Given the description of an element on the screen output the (x, y) to click on. 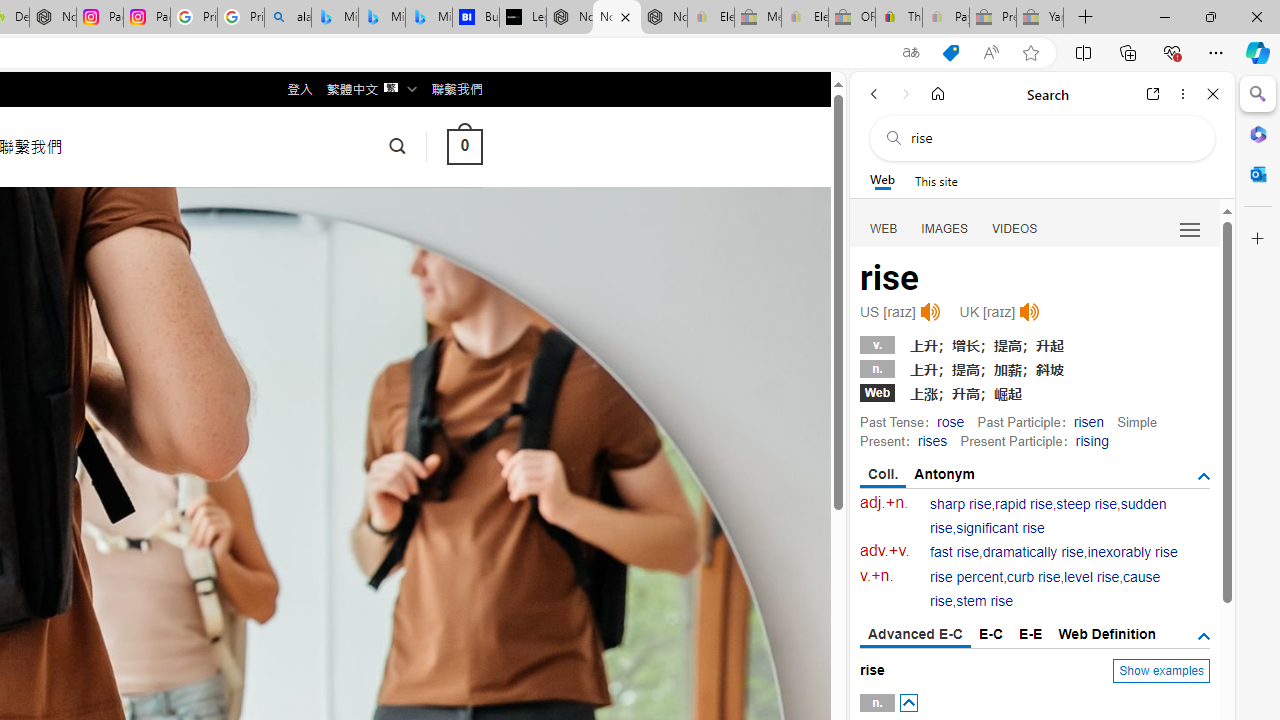
Antonym (945, 473)
rises (932, 440)
E-C (991, 633)
Search Filter, VIDEOS (1015, 228)
  0   (464, 146)
level rise (1091, 577)
sharp rise (961, 503)
Preferences (1189, 228)
